Given the description of an element on the screen output the (x, y) to click on. 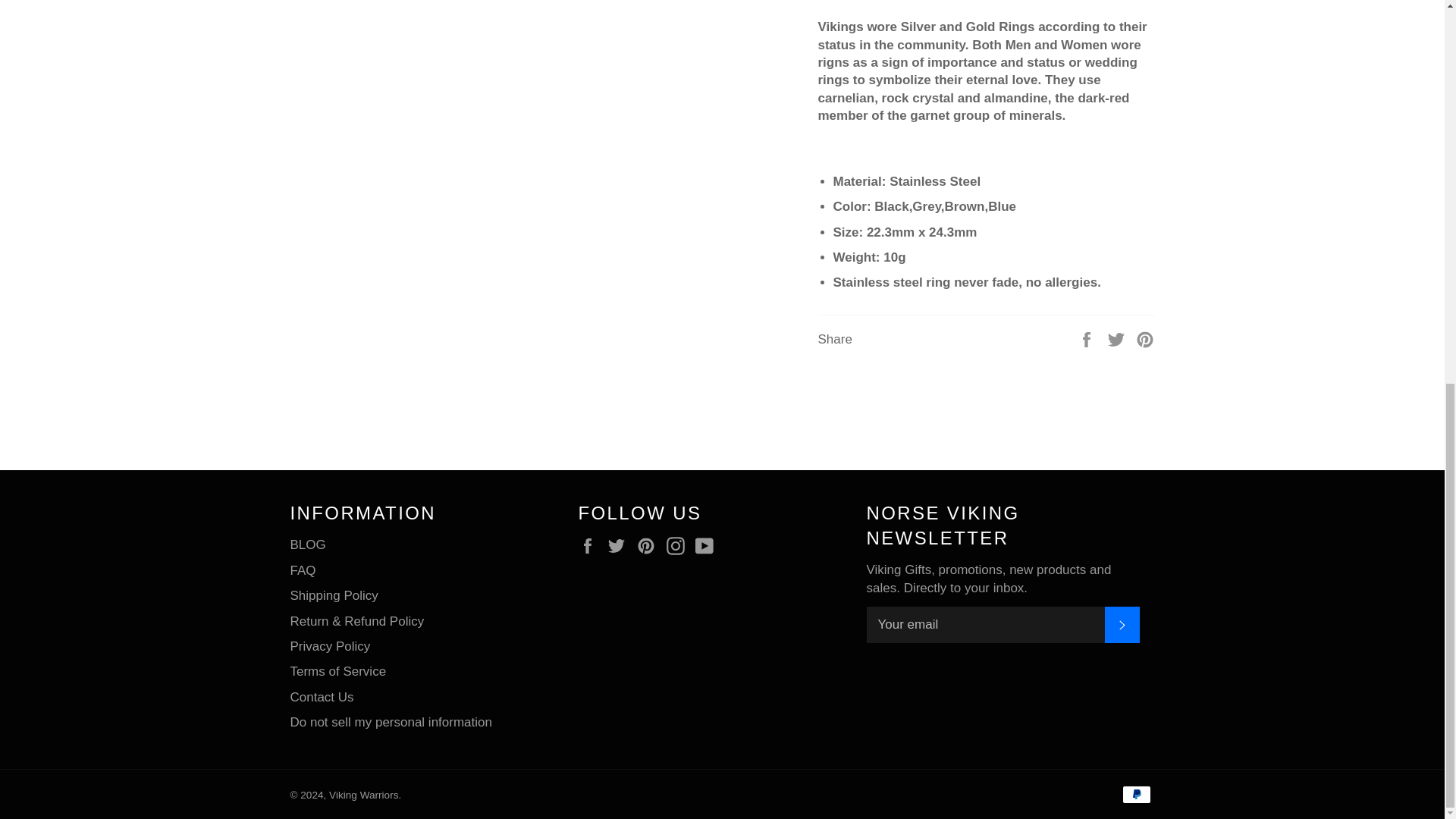
Viking Warriors on Instagram (679, 545)
Viking Warriors on YouTube (707, 545)
Viking Warriors on Twitter (620, 545)
Tweet on Twitter (1117, 339)
Viking Warriors on Pinterest (649, 545)
Viking Warriors on Facebook (591, 545)
Pin on Pinterest (1144, 339)
Share on Facebook (1088, 339)
